Given the description of an element on the screen output the (x, y) to click on. 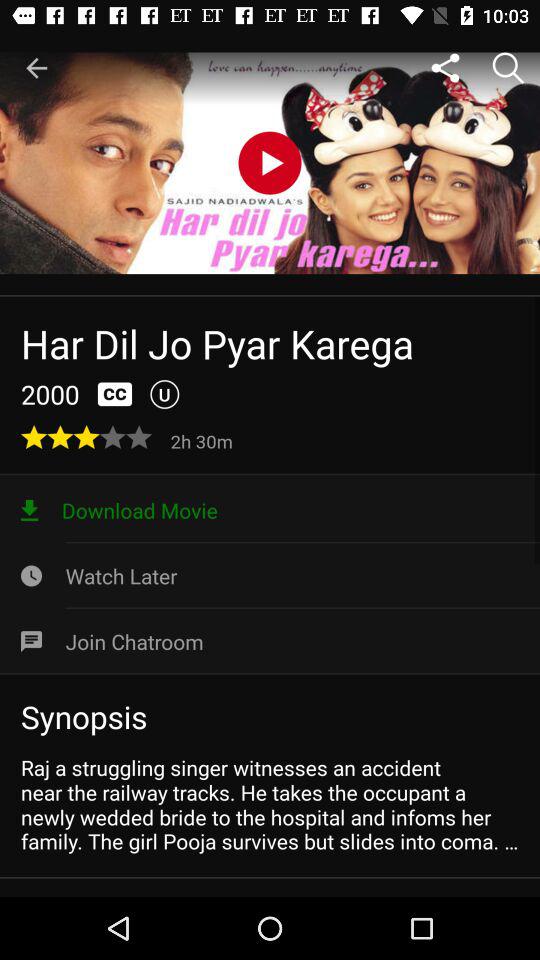
open the 2h 30m (203, 440)
